Given the description of an element on the screen output the (x, y) to click on. 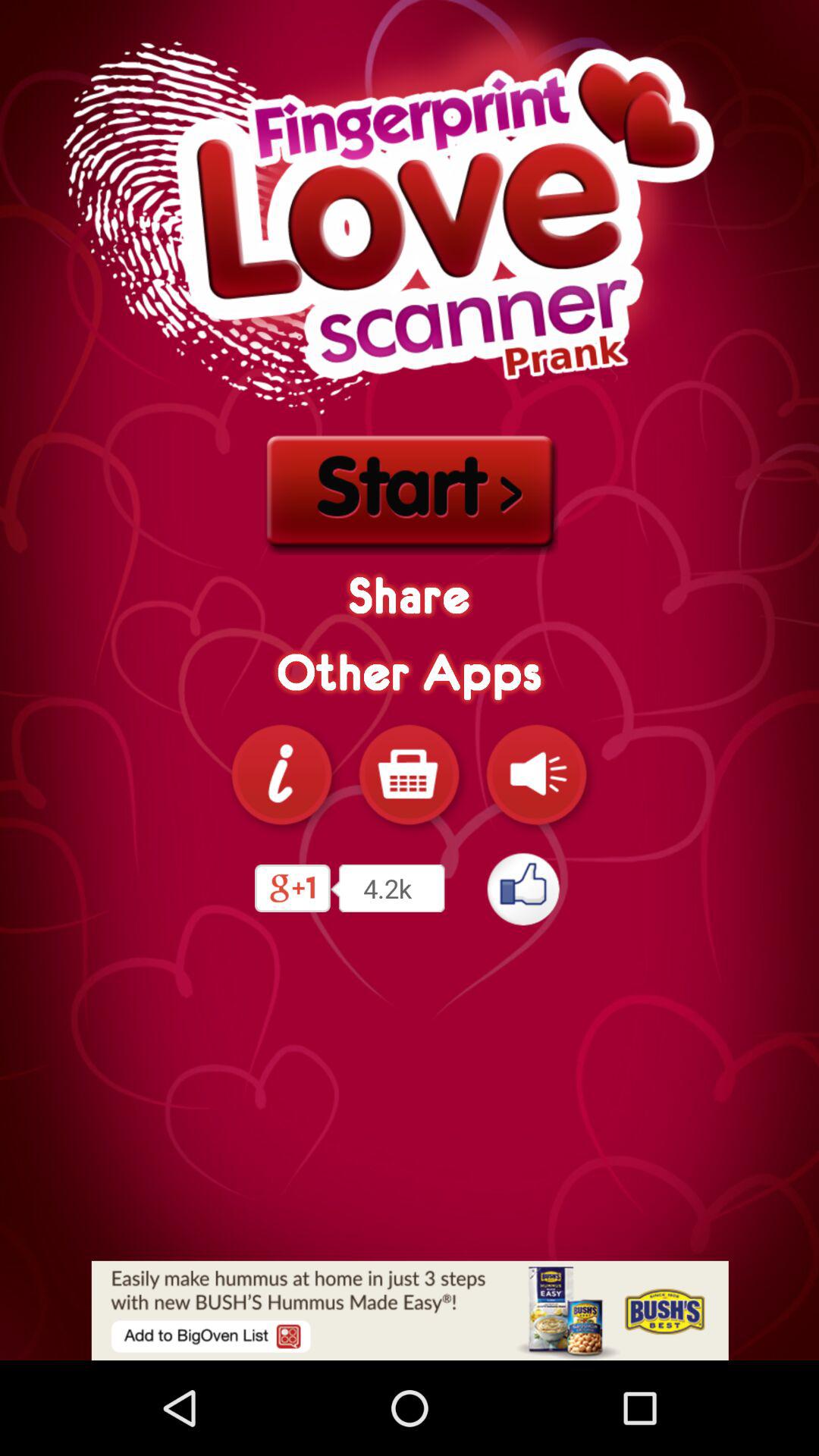
advertisement display (409, 1310)
